Given the description of an element on the screen output the (x, y) to click on. 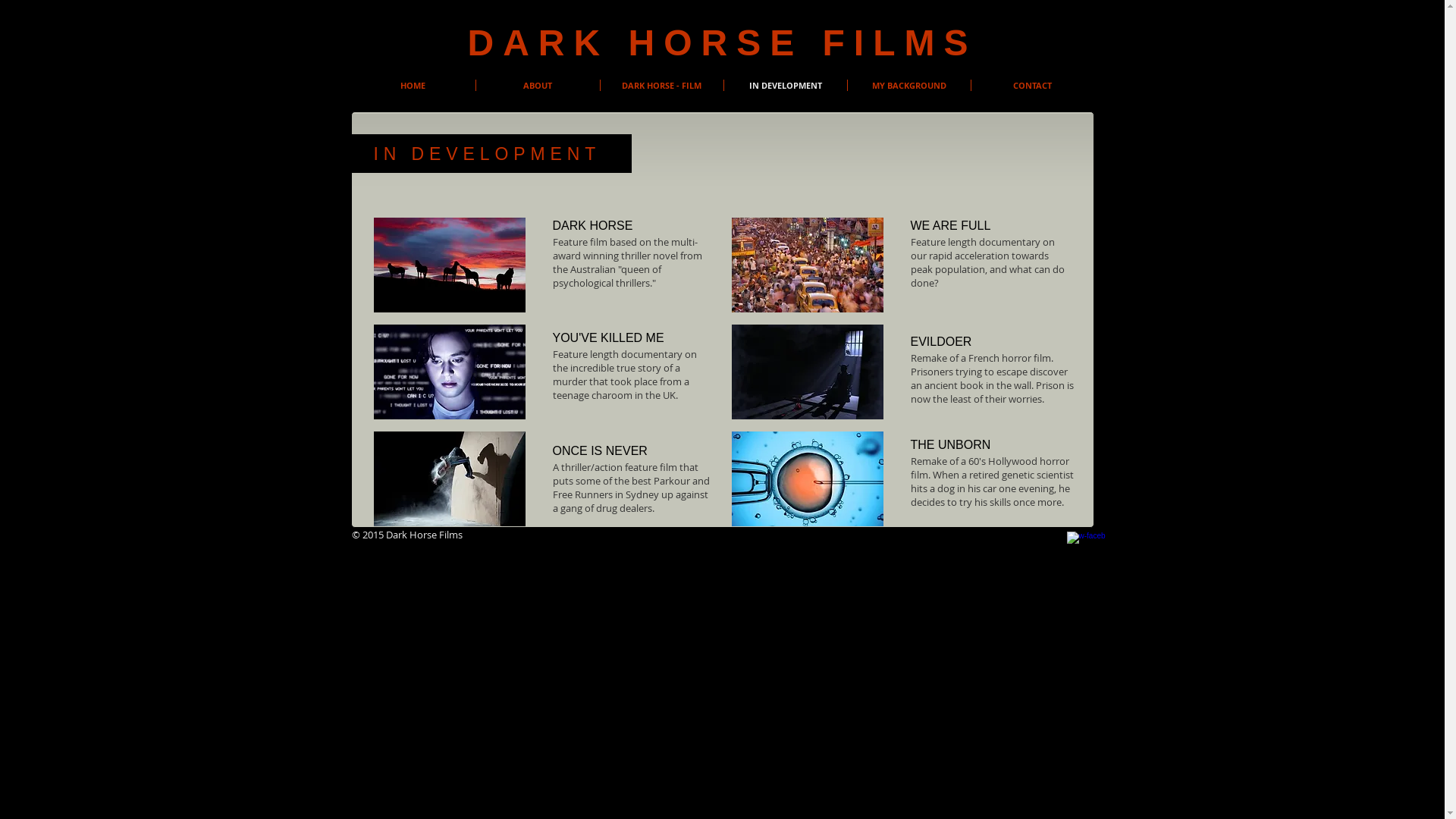
MY BACKGROUND Element type: text (908, 85)
DARK HORSE - FILM Element type: text (661, 85)
We Are Full.jpg Element type: hover (806, 264)
Parkour 1.jpeg Element type: hover (448, 478)
CONTACT Element type: text (1031, 85)
Evil Jail.jpg Element type: hover (806, 371)
HOME Element type: text (412, 85)
IN DEVELOPMENT Element type: text (784, 85)
Perfect for Business Card! Cropped.jpg Element type: hover (448, 264)
ABOUT Element type: text (537, 85)
Chat Room Murder.jpg Element type: hover (448, 371)
Embryo 1.jpg Element type: hover (806, 478)
